Given the description of an element on the screen output the (x, y) to click on. 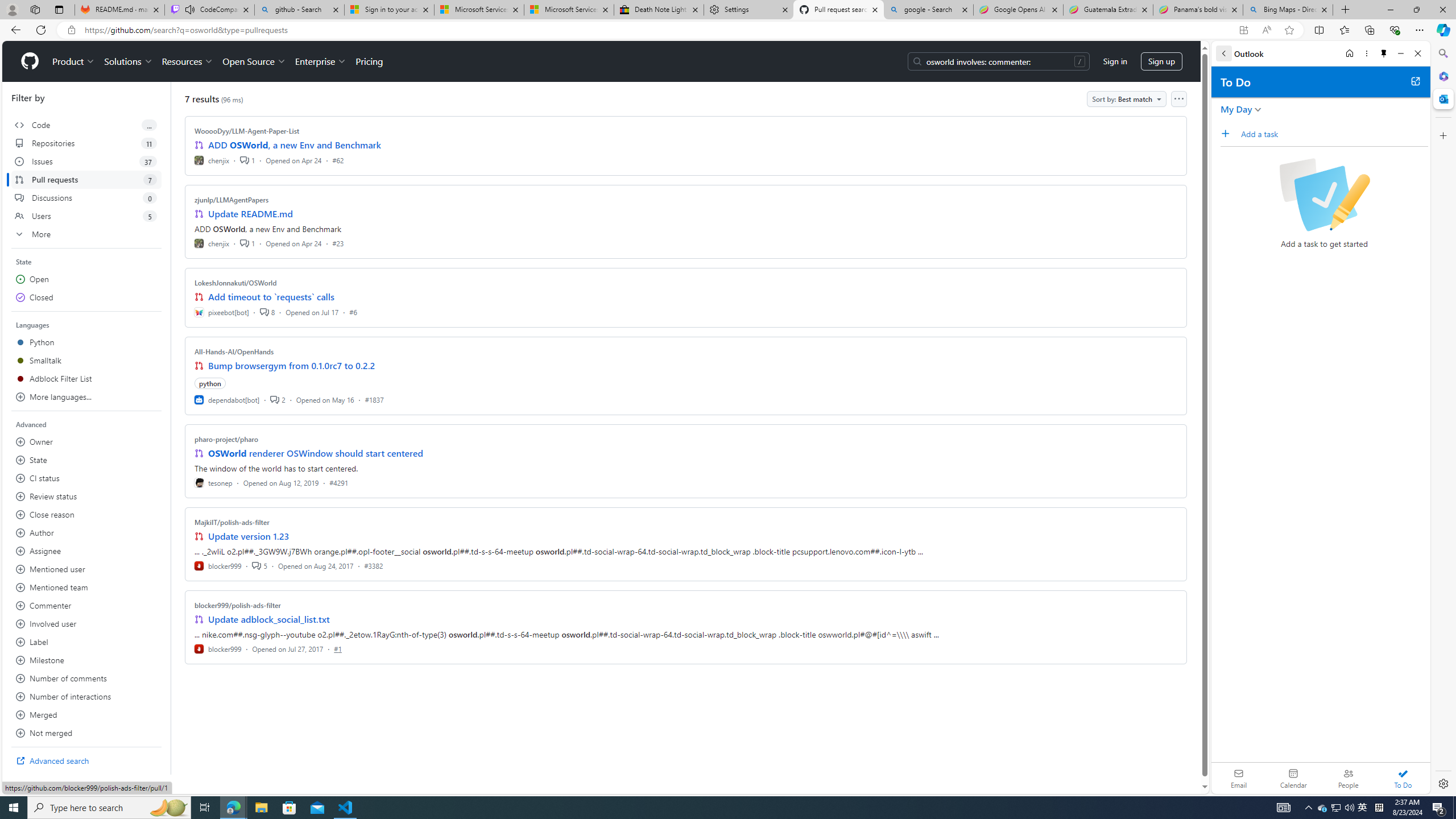
#1 (337, 648)
#3382 (373, 565)
#1837 (374, 398)
blocker999/polish-ads-filter (238, 605)
Solutions (128, 60)
Google Opens AI Academy for Startups - Nearshore Americas (1018, 9)
5 (259, 565)
Open in new tab (1414, 80)
My Day (1236, 109)
